Given the description of an element on the screen output the (x, y) to click on. 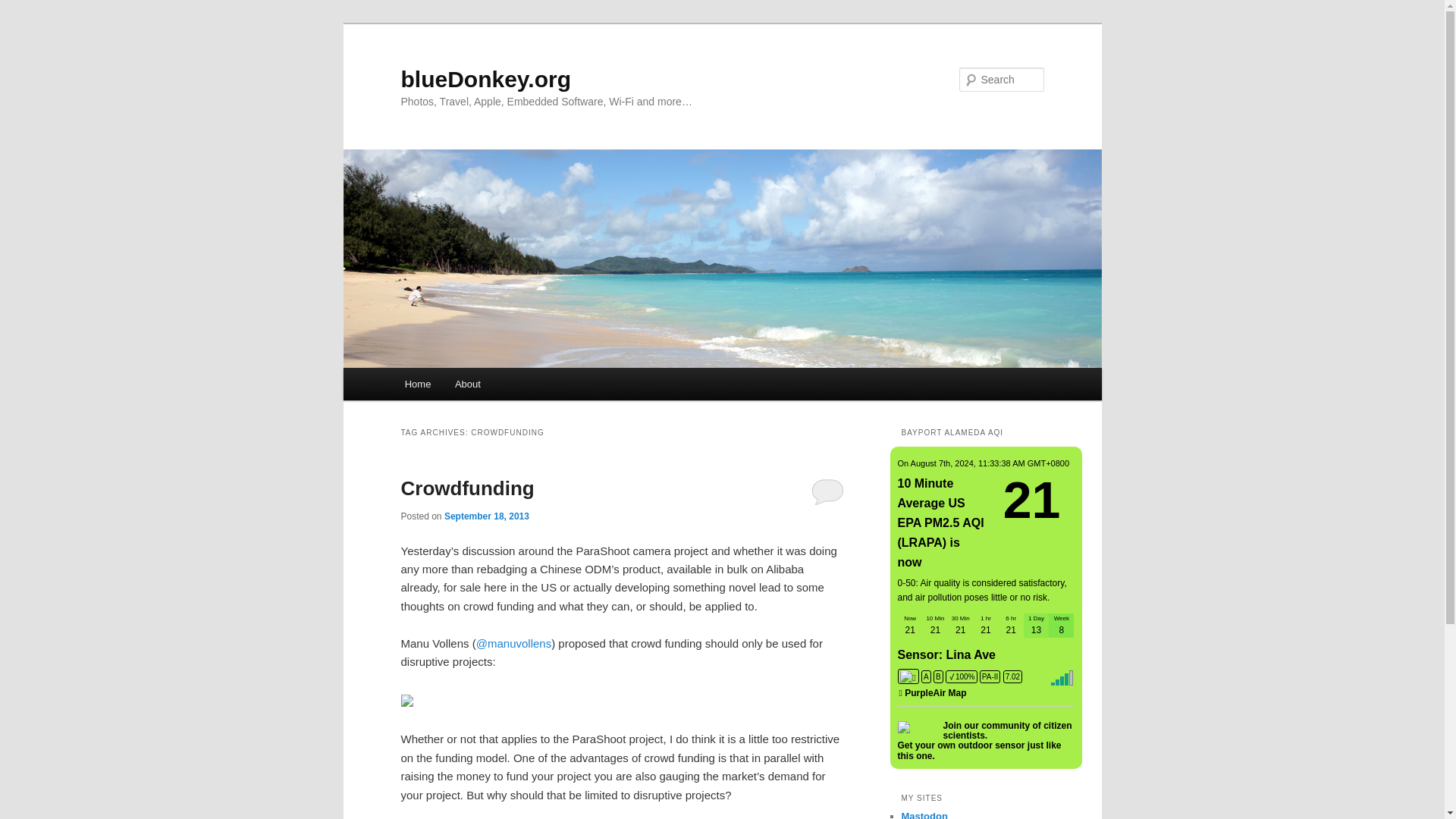
About (467, 383)
Crowdfunding (467, 487)
My Mastodon Page (924, 814)
12:02 pm (486, 516)
Mastodon (924, 814)
blueDonkey.org (485, 78)
Home (417, 383)
September 18, 2013 (486, 516)
